Given the description of an element on the screen output the (x, y) to click on. 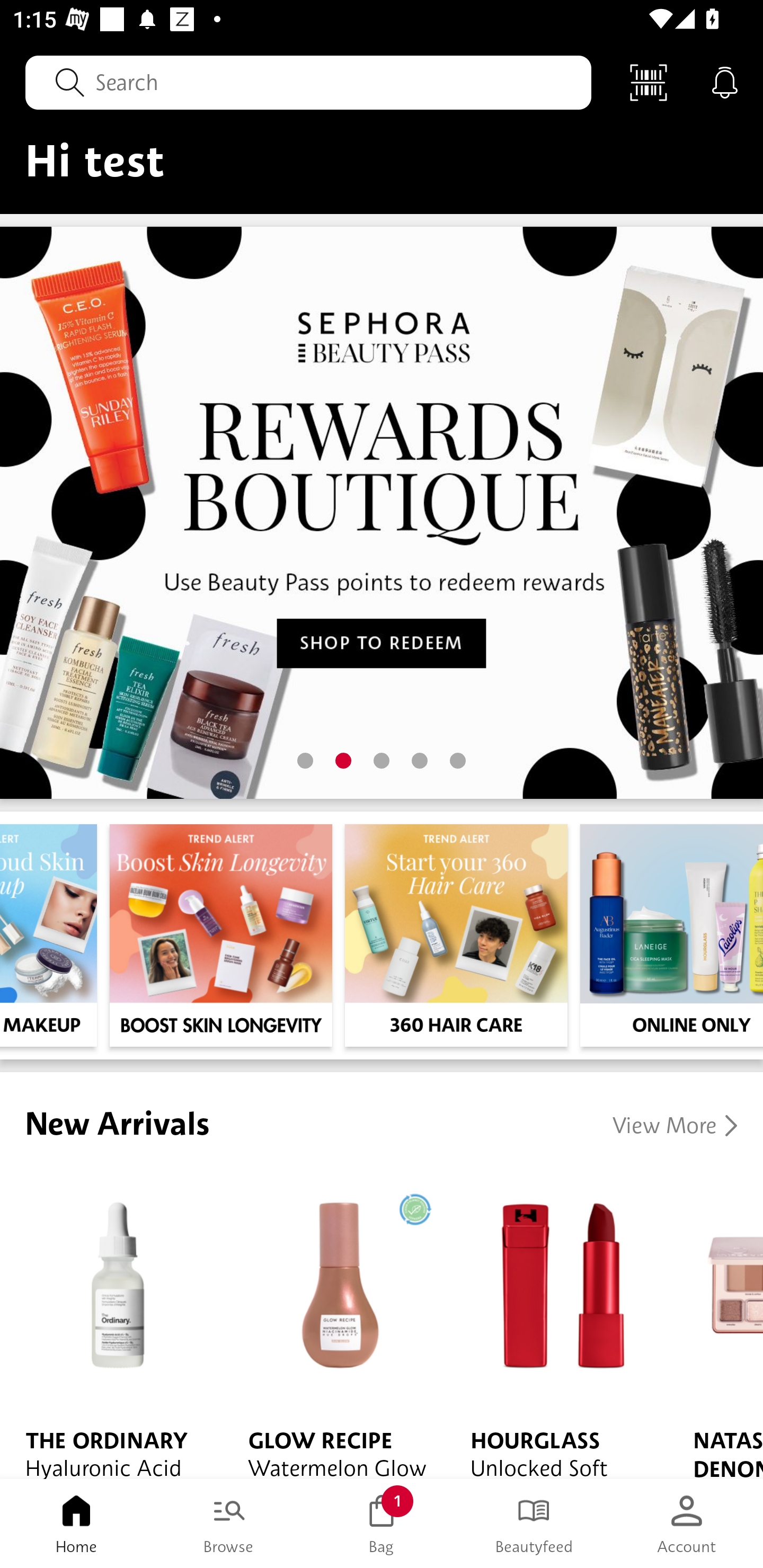
Scan Code (648, 81)
Notifications (724, 81)
Search (308, 81)
View More (674, 1125)
THE ORDINARY Hyaluronic Acid 2% + B5 (111, 1323)
GLOW RECIPE Watermelon Glow Niacinamide Hue Drops (333, 1323)
HOURGLASS Unlocked Soft Matte Lipstick (555, 1323)
Browse (228, 1523)
Bag 1 Bag (381, 1523)
Beautyfeed (533, 1523)
Account (686, 1523)
